Given the description of an element on the screen output the (x, y) to click on. 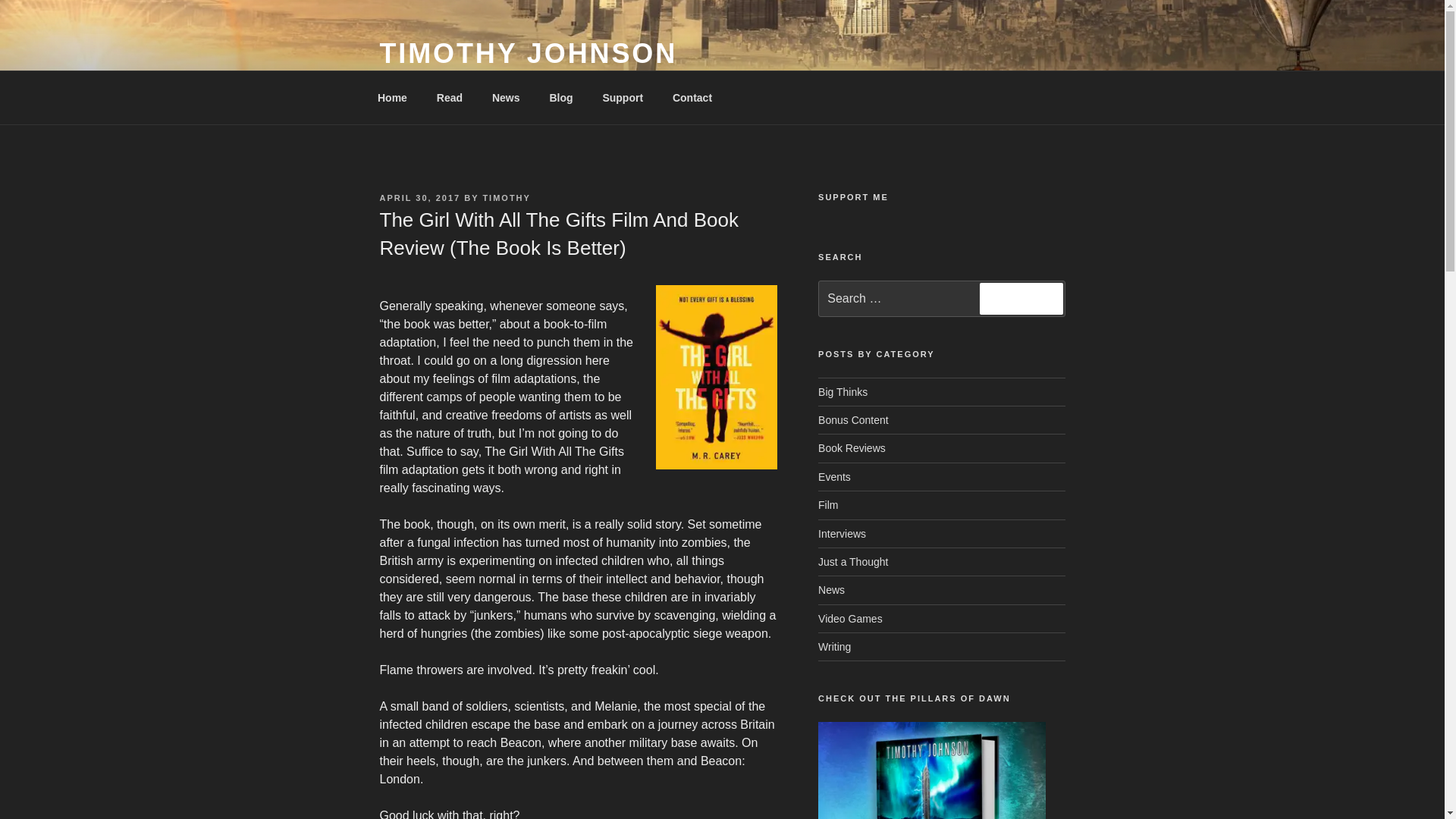
Film (828, 504)
TIMOTHY (506, 197)
Interviews (842, 533)
Support (622, 97)
Just a Thought (853, 562)
APRIL 30, 2017 (419, 197)
Bonus Content (853, 419)
Home (392, 97)
Video Games (850, 618)
Big Thinks (842, 391)
